Given the description of an element on the screen output the (x, y) to click on. 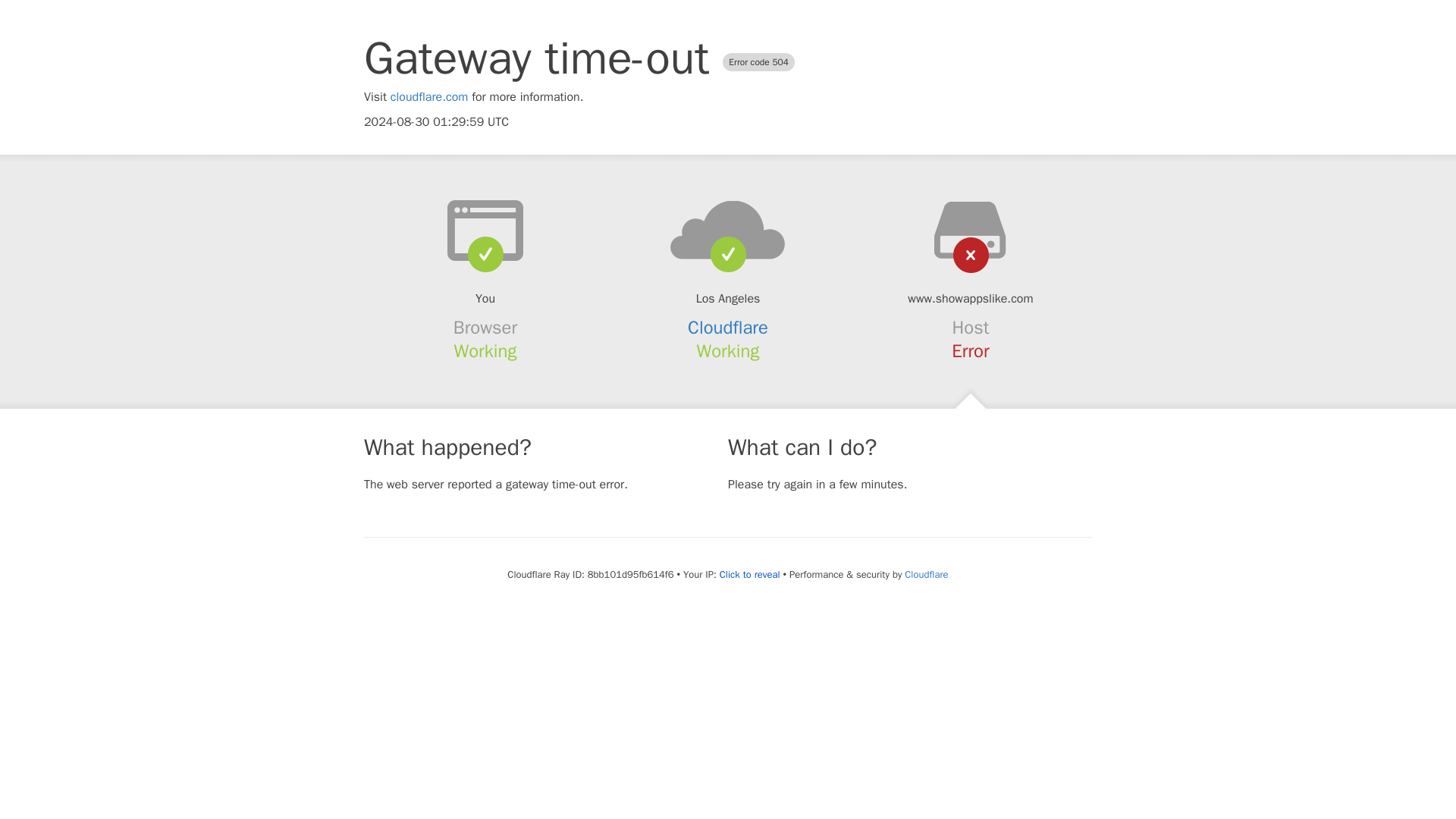
Click to reveal (749, 574)
Cloudflare (727, 327)
cloudflare.com (429, 96)
Cloudflare (925, 574)
